Given the description of an element on the screen output the (x, y) to click on. 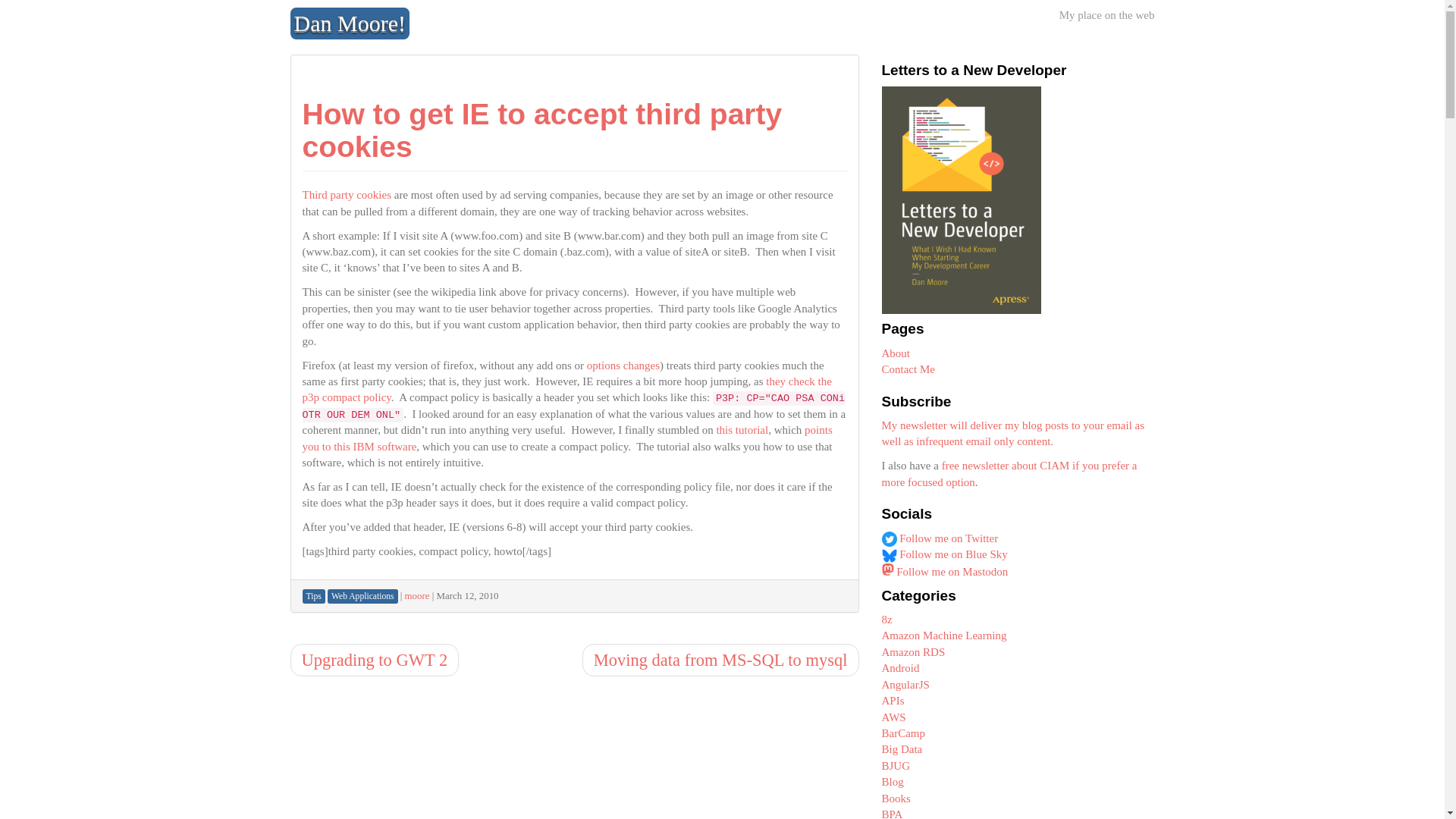
points you to this IBM software (566, 438)
moore (416, 595)
Follow me on Twitter (938, 538)
BPA (891, 813)
Big Data (900, 748)
Amazon RDS (912, 652)
they check the p3p compact policy (566, 389)
Contact Me (907, 369)
this tutorial (742, 429)
